Given the description of an element on the screen output the (x, y) to click on. 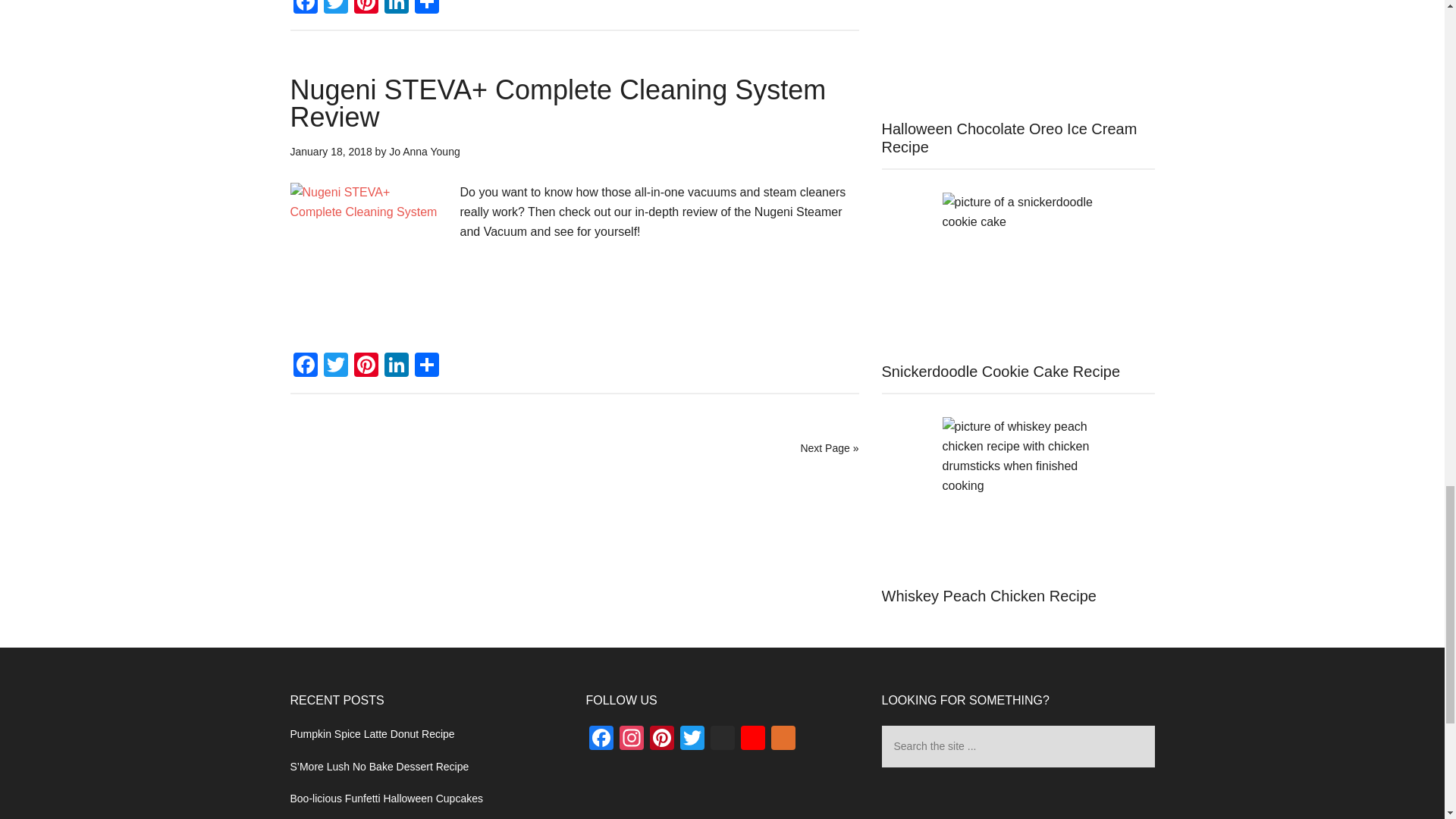
Pinterest (365, 8)
Facebook (304, 8)
Twitter (335, 8)
